Given the description of an element on the screen output the (x, y) to click on. 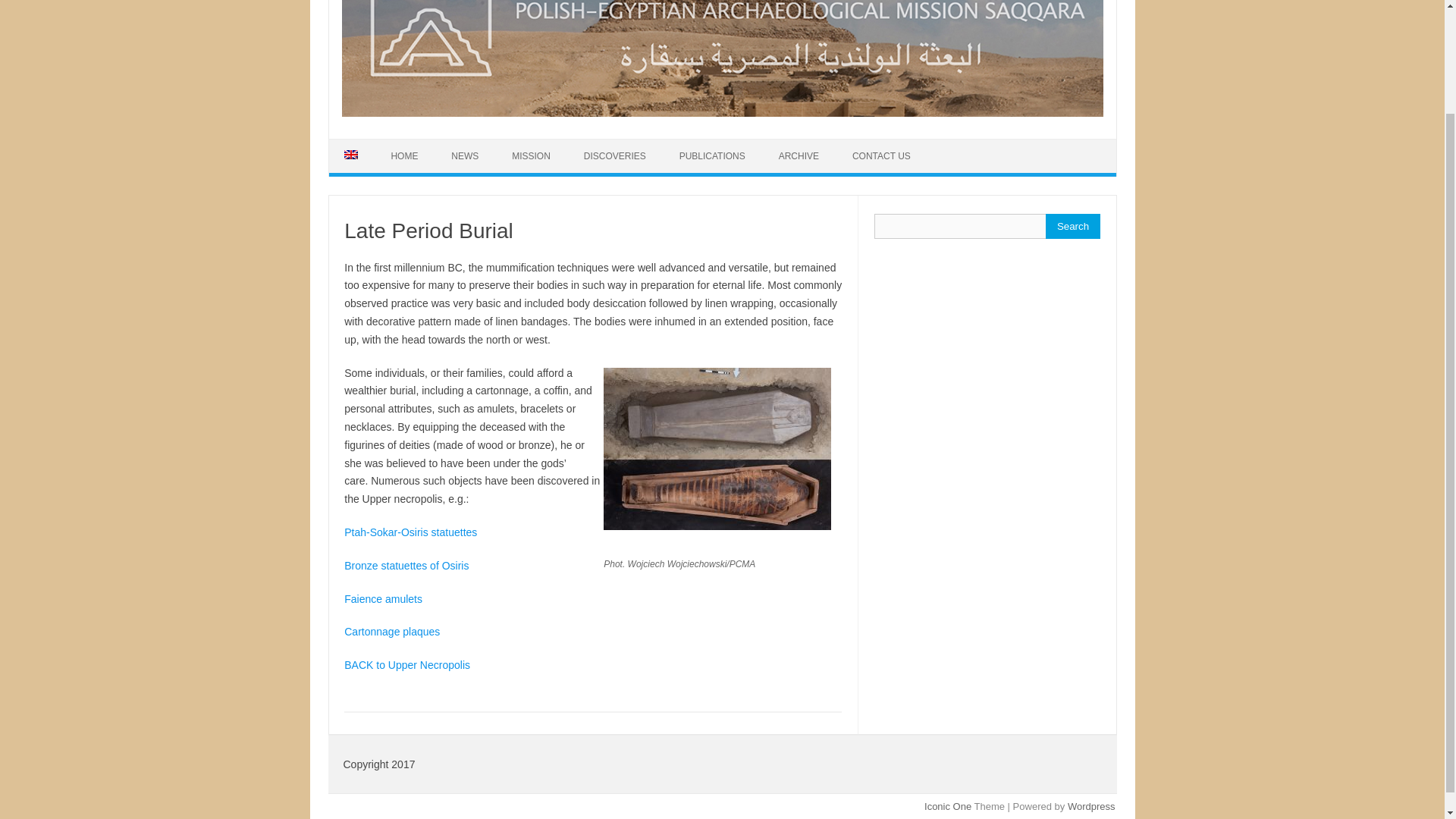
CONTACT US (881, 155)
NEWS (464, 155)
Skip to content (363, 143)
Faience amulets (382, 598)
Polish-Egyptian Archaeological Mission Saqqara (721, 112)
PUBLICATIONS (711, 155)
ARCHIVE (798, 155)
MISSION (531, 155)
Skip to content (363, 143)
Ptah-Sokar-Osiris statuettes (410, 532)
